Given the description of an element on the screen output the (x, y) to click on. 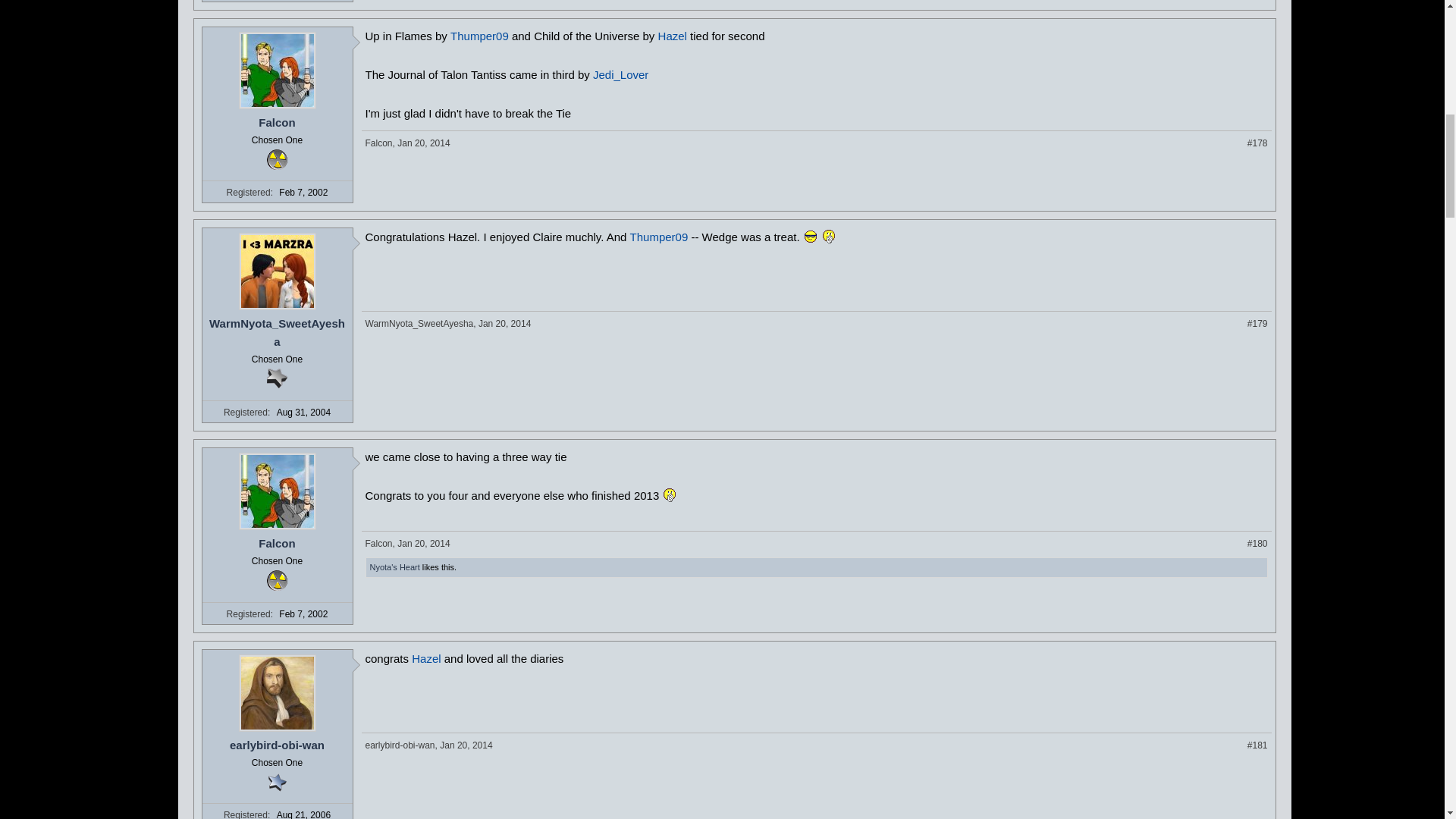
60,775 posts (276, 159)
Permalink (423, 143)
Permalink (1257, 143)
Cool    :cool: (809, 236)
Permalink (505, 323)
Falcon (276, 122)
32,530 posts (276, 378)
